Given the description of an element on the screen output the (x, y) to click on. 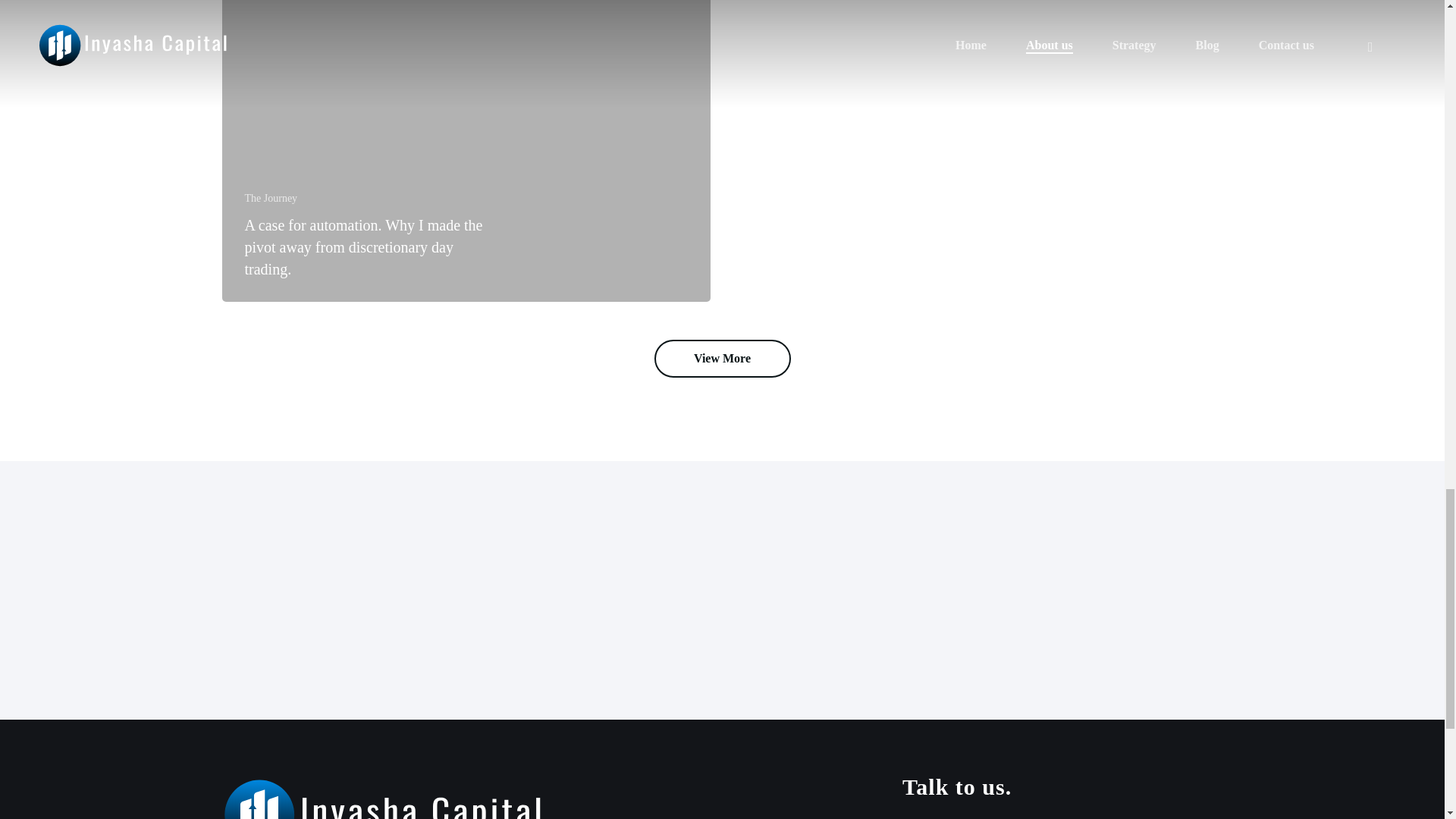
View More (721, 358)
The Journey (270, 197)
